Given the description of an element on the screen output the (x, y) to click on. 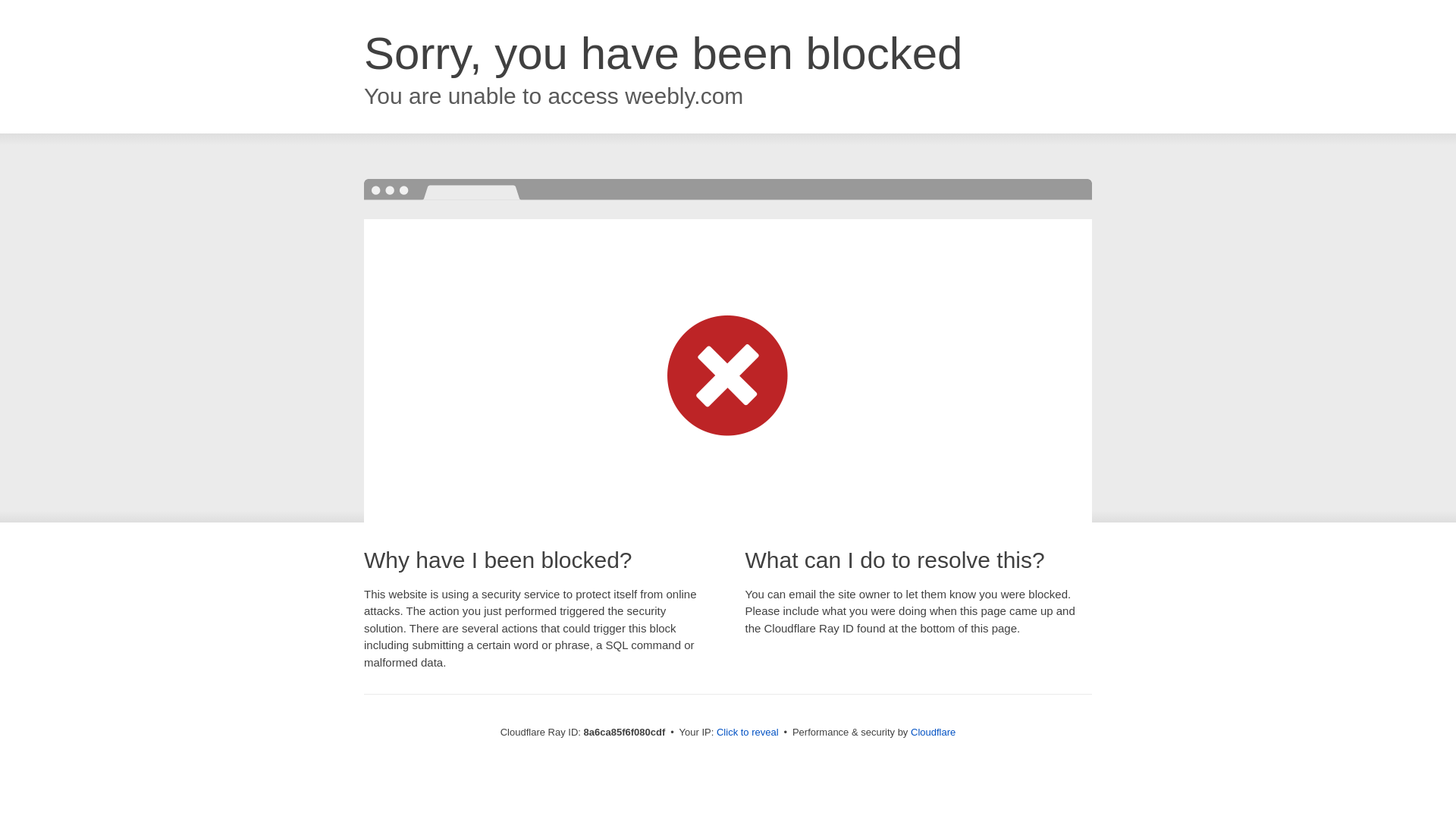
Click to reveal (747, 732)
Cloudflare (933, 731)
